Given the description of an element on the screen output the (x, y) to click on. 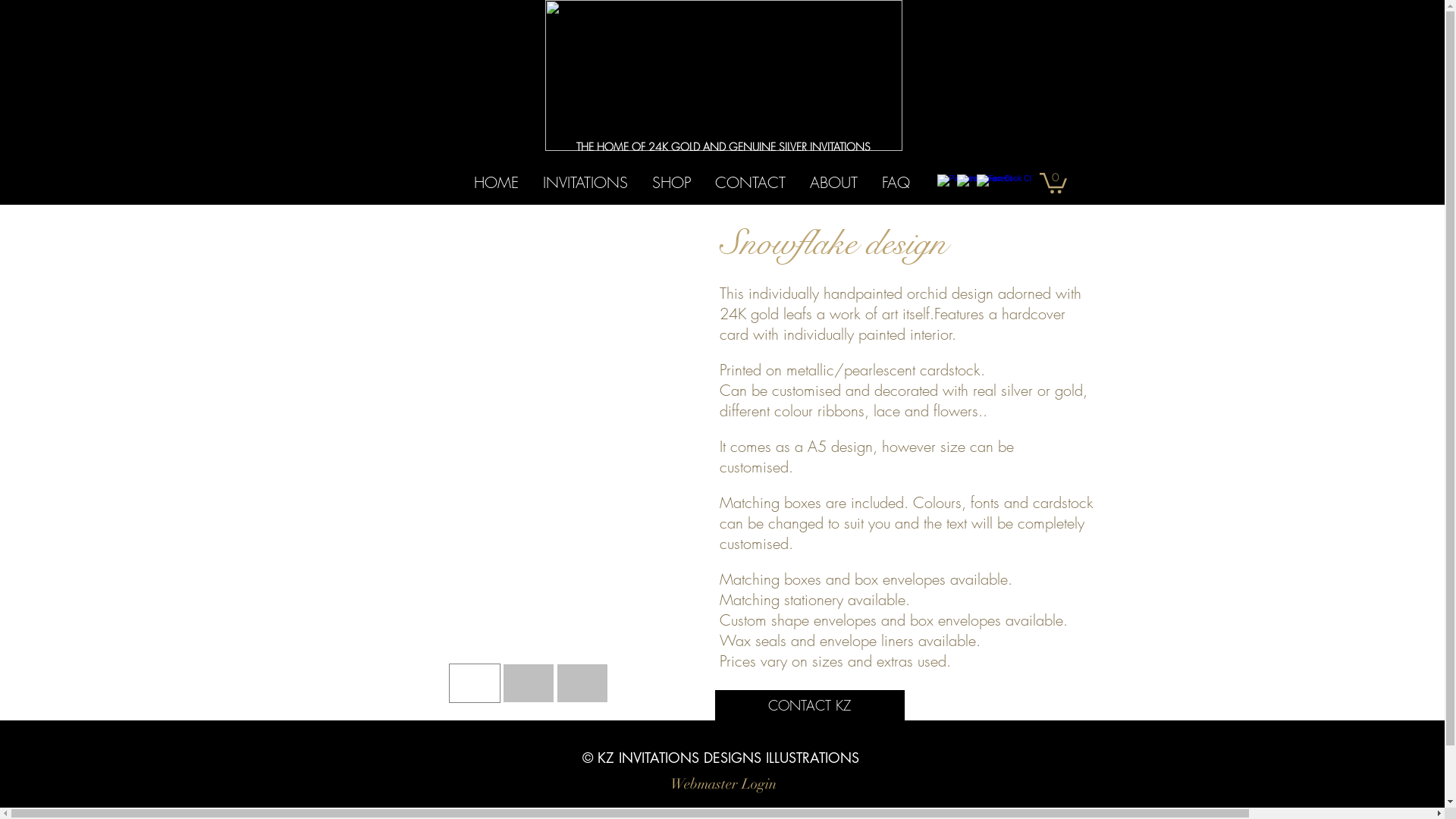
SHOP Element type: text (671, 182)
Webmaster Login Element type: text (722, 783)
CONTACT Element type: text (749, 182)
0 Element type: text (1052, 181)
HOME Element type: text (495, 182)
INVITATIONS Element type: text (585, 182)
ABOUT Element type: text (833, 182)
FAQ Element type: text (895, 182)
CONTACT KZ Element type: text (808, 705)
